Given the description of an element on the screen output the (x, y) to click on. 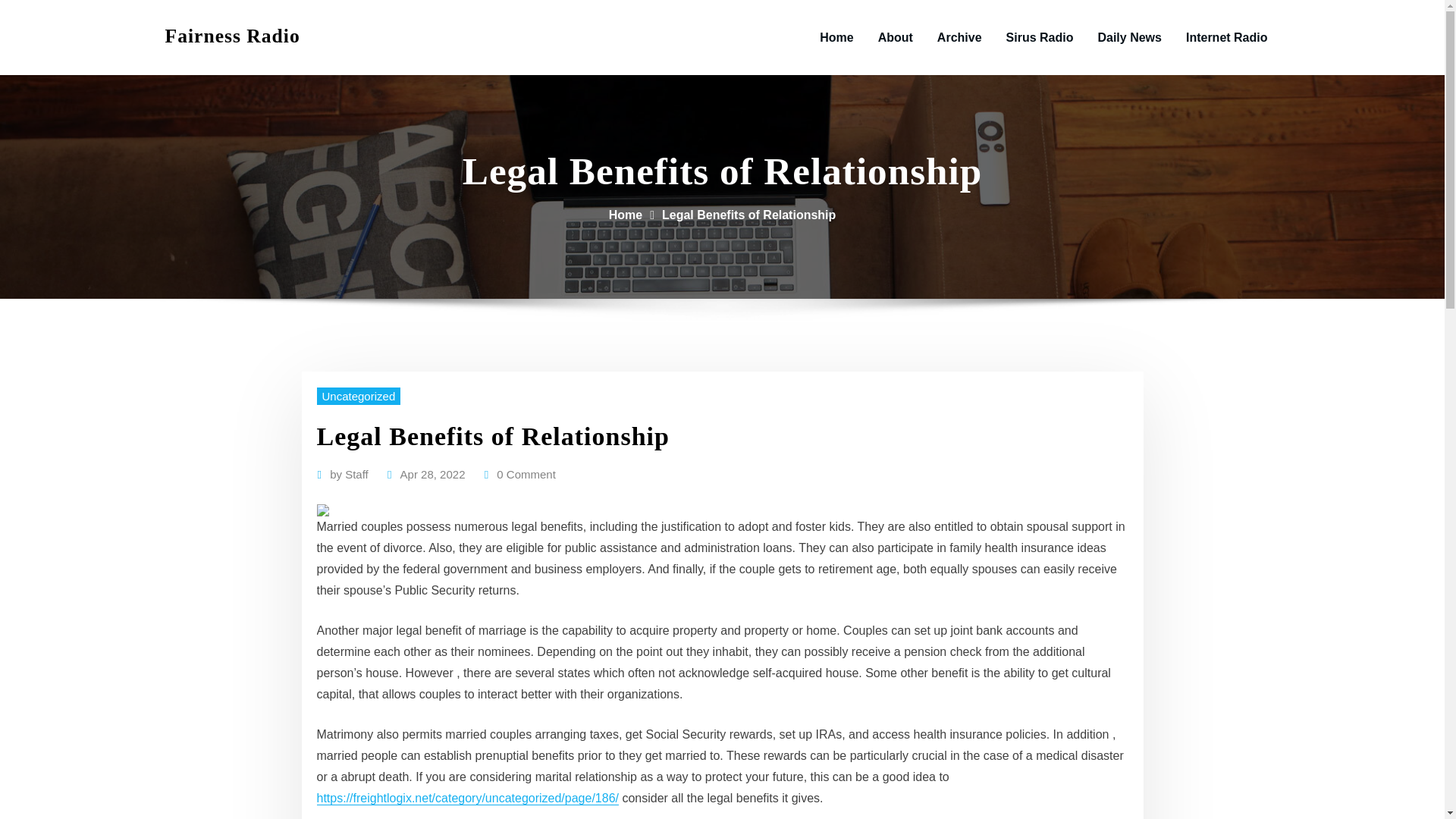
Home (625, 214)
Sirus Radio (1040, 37)
Daily News (1128, 37)
0 Comment (526, 474)
Apr 28, 2022 (432, 474)
by Staff (349, 474)
Fairness Radio (232, 35)
Uncategorized (359, 395)
Legal Benefits of Relationship (748, 214)
Internet Radio (1226, 37)
Archive (959, 37)
